Given the description of an element on the screen output the (x, y) to click on. 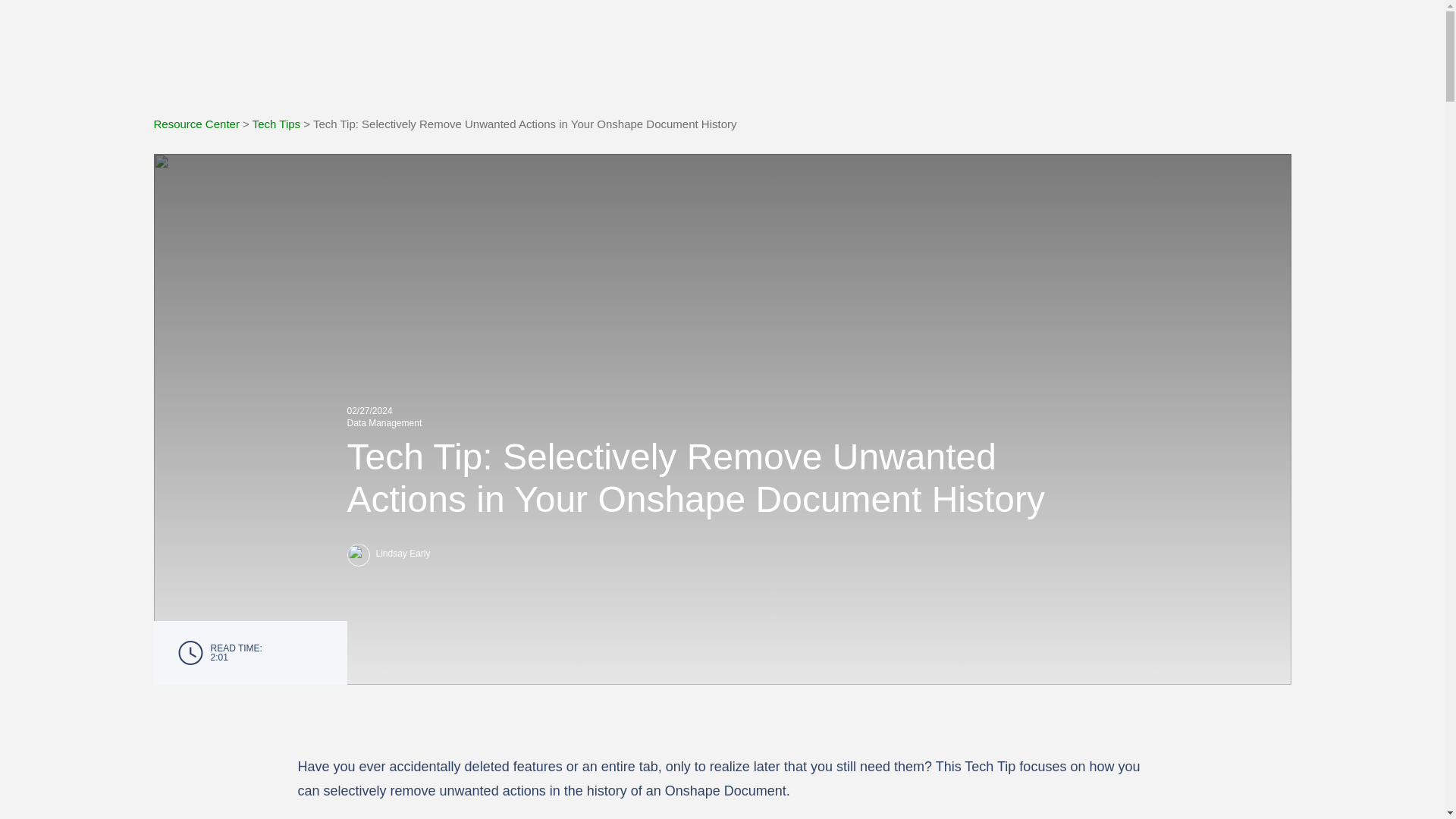
Tech Tips (275, 123)
Lindsay Early (722, 554)
Data Management (384, 422)
Resource Center (195, 123)
